Given the description of an element on the screen output the (x, y) to click on. 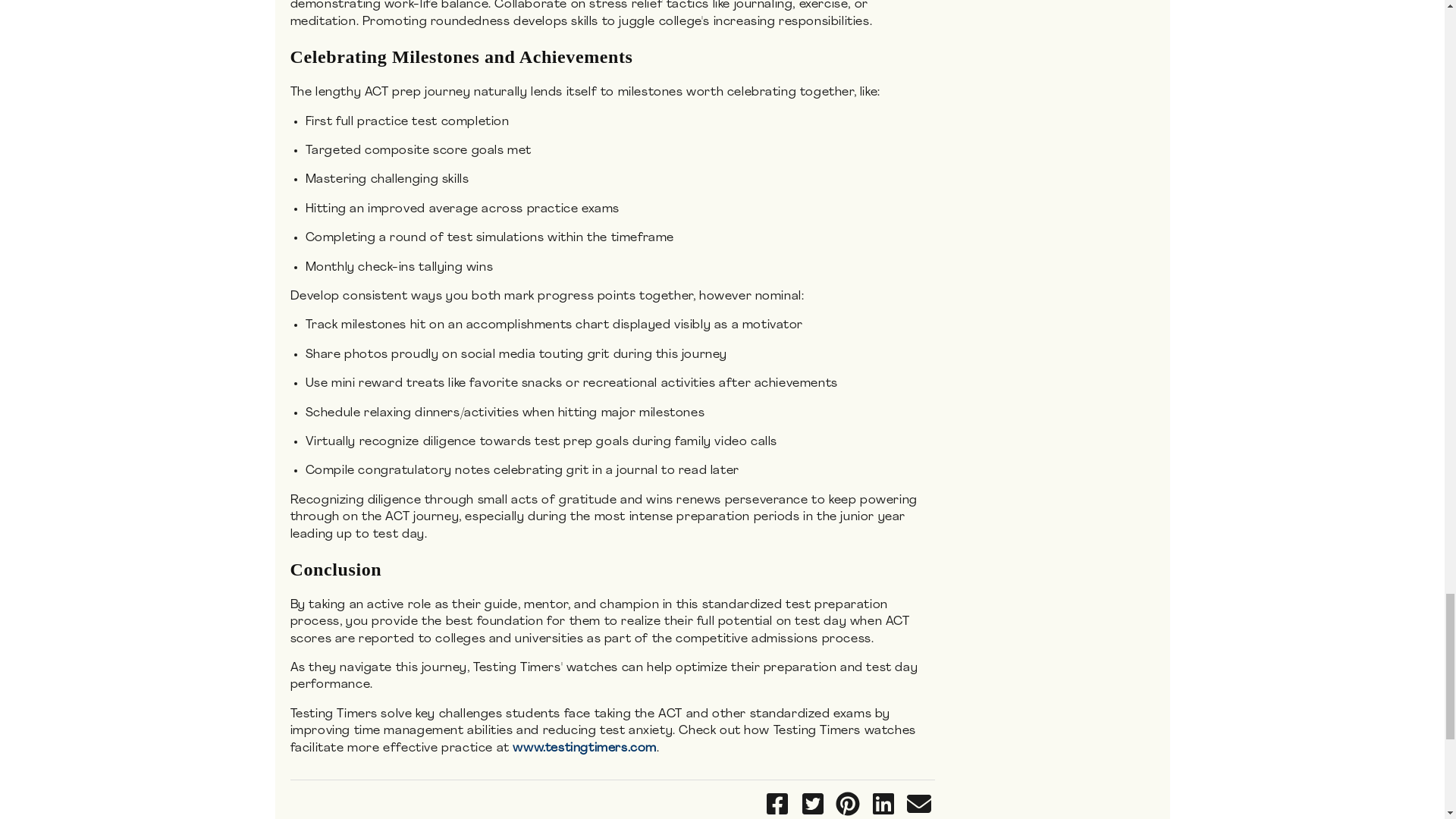
www.testingtimers.com (584, 748)
